Given the description of an element on the screen output the (x, y) to click on. 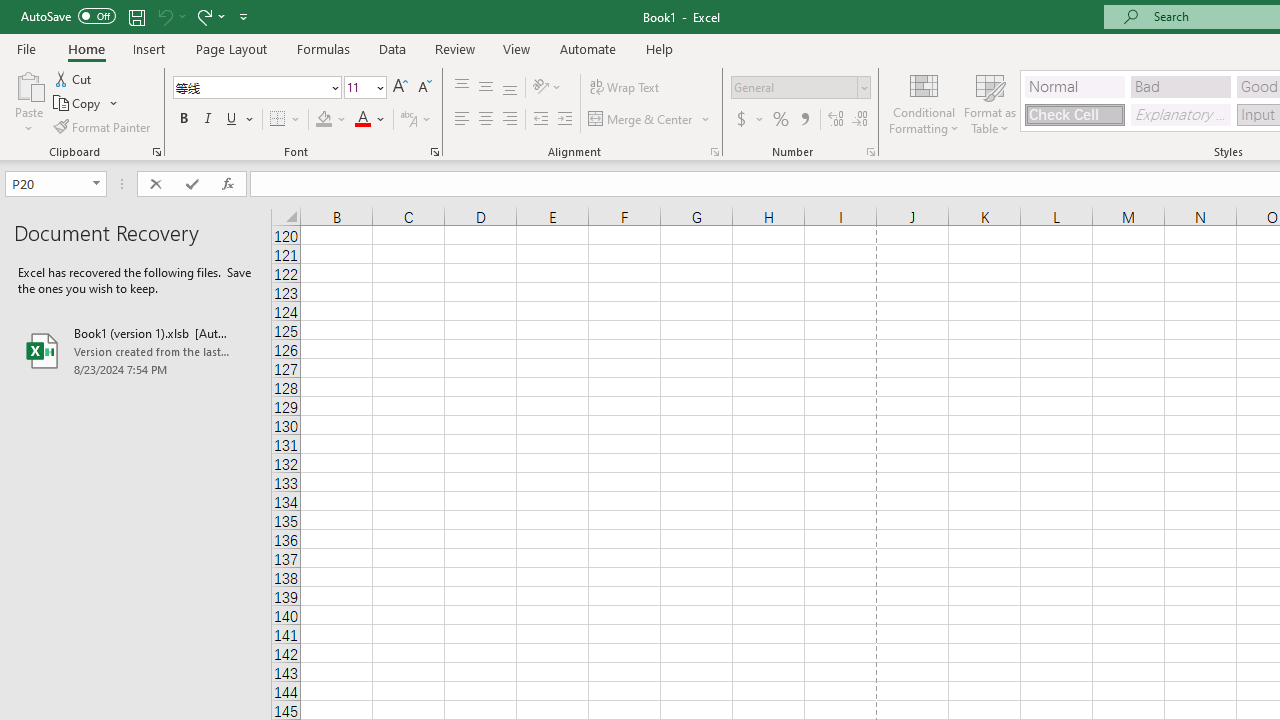
Fill Color (331, 119)
Underline (232, 119)
Copy (78, 103)
Orientation (547, 87)
Bottom Border (278, 119)
Center (485, 119)
Font Size (365, 87)
Align Right (509, 119)
Paste (28, 102)
